Given the description of an element on the screen output the (x, y) to click on. 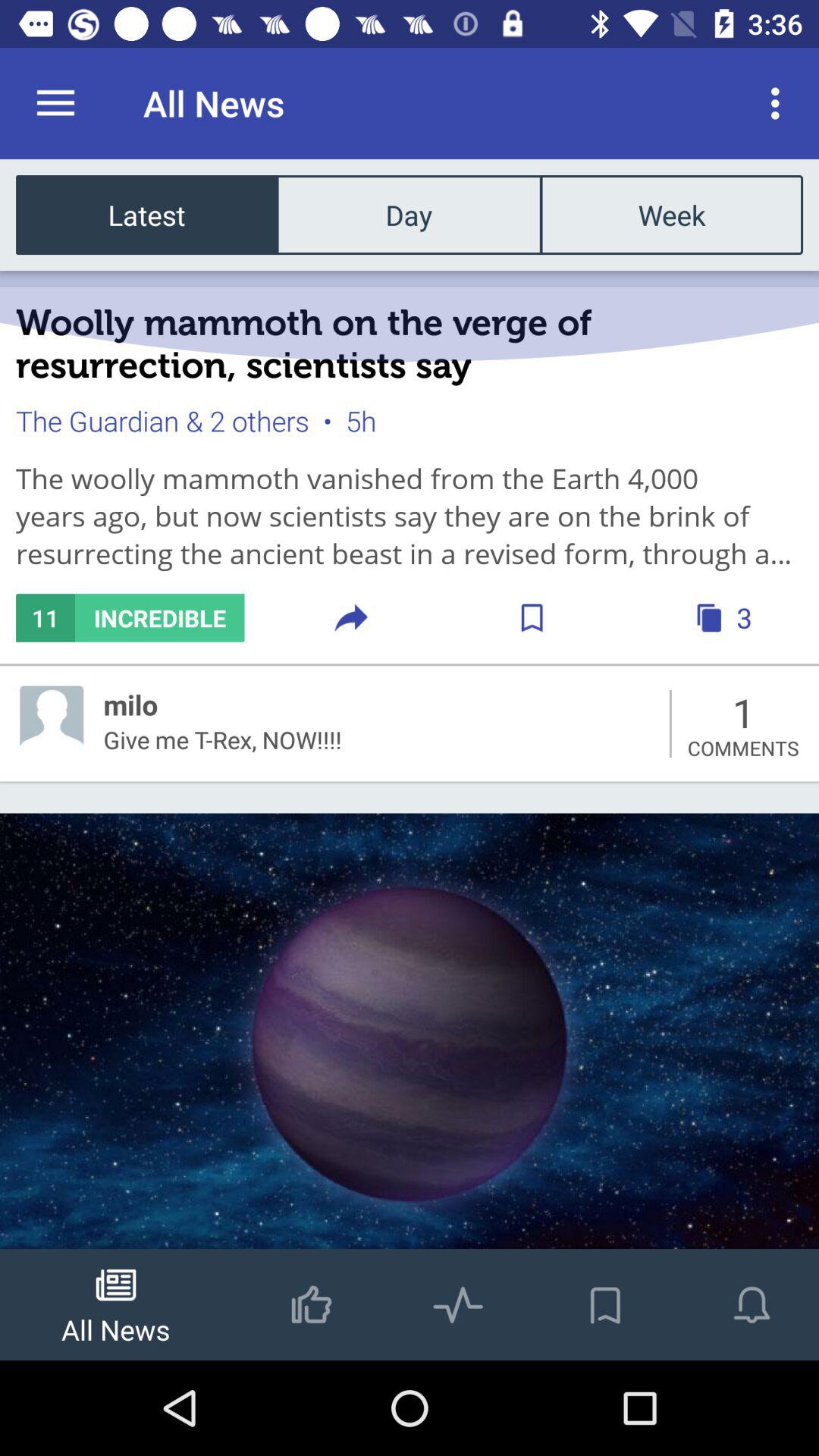
turn on icon to the right of the latest (409, 214)
